Given the description of an element on the screen output the (x, y) to click on. 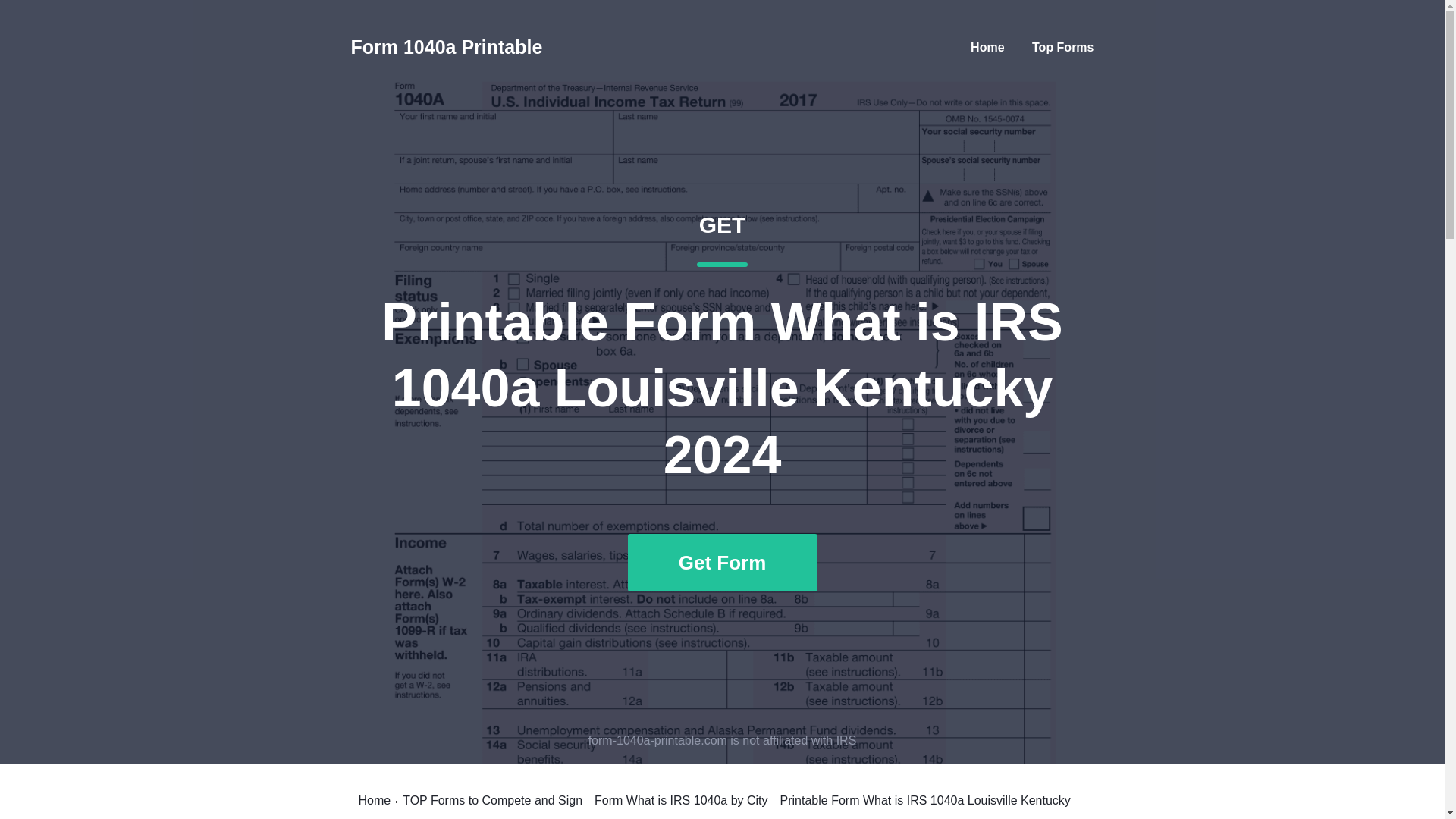
TOP Forms to Compete and Sign (492, 800)
Home (987, 47)
Home (374, 800)
Form 1040a Printable (445, 46)
Form What is IRS 1040a by City (681, 800)
Top Forms (1062, 47)
